Given the description of an element on the screen output the (x, y) to click on. 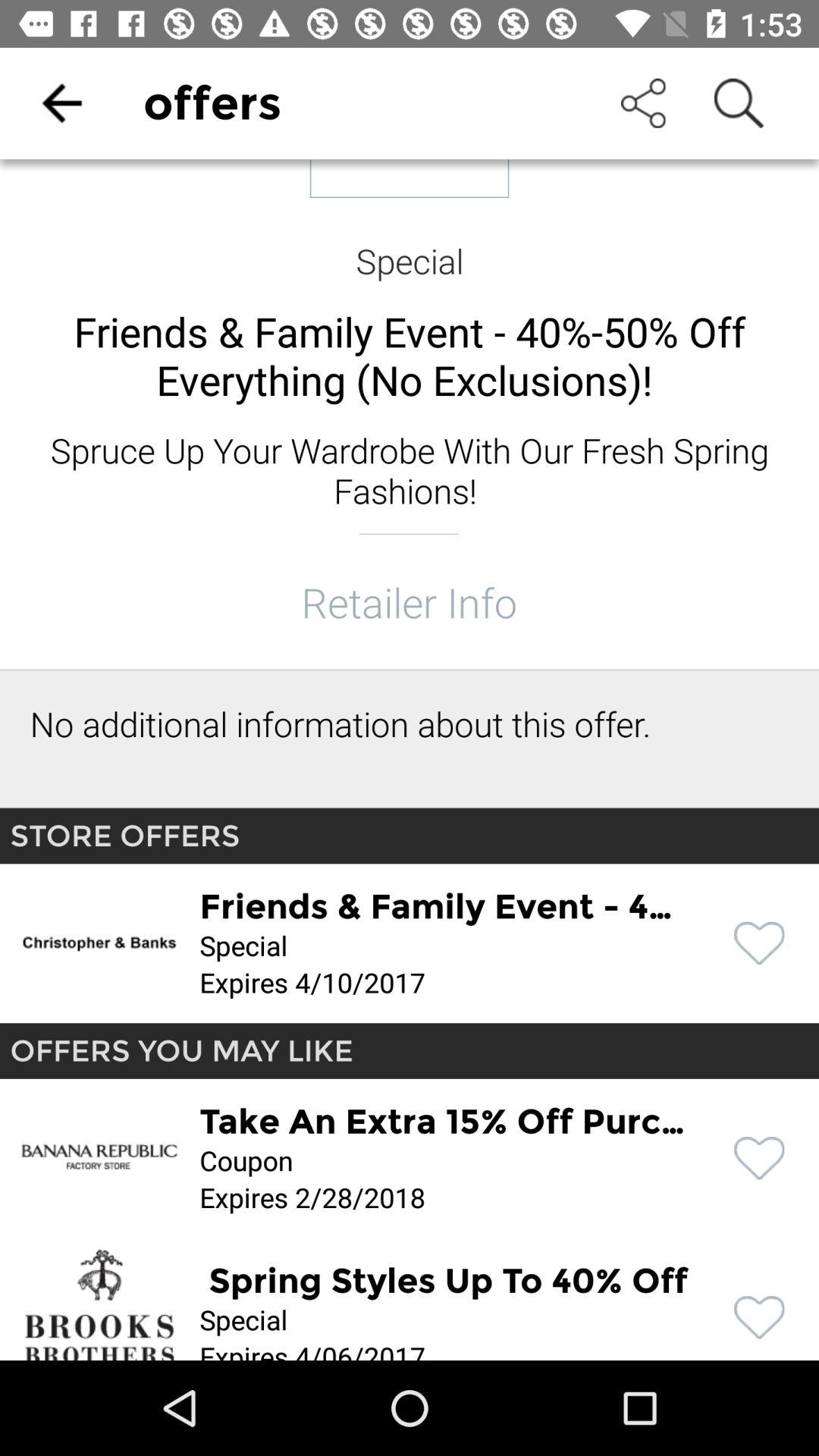
open the icon at the top left corner (61, 103)
